Given the description of an element on the screen output the (x, y) to click on. 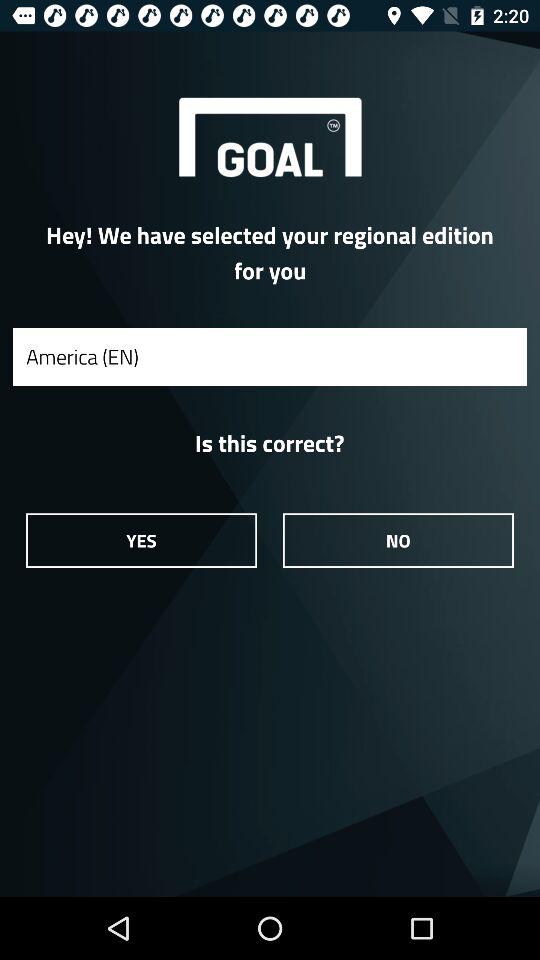
jump until yes (141, 540)
